Given the description of an element on the screen output the (x, y) to click on. 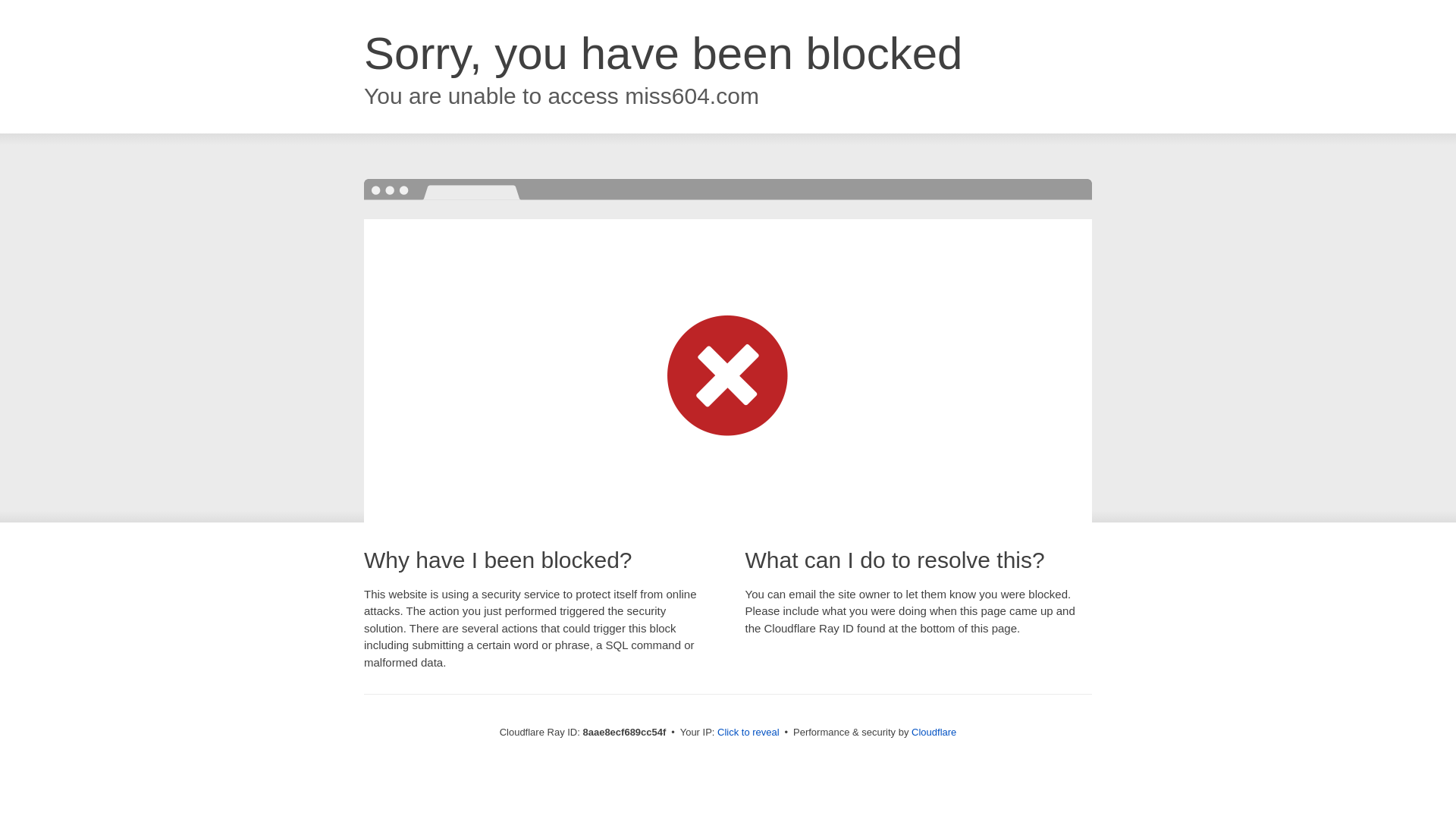
Click to reveal (747, 732)
Cloudflare (933, 731)
